Given the description of an element on the screen output the (x, y) to click on. 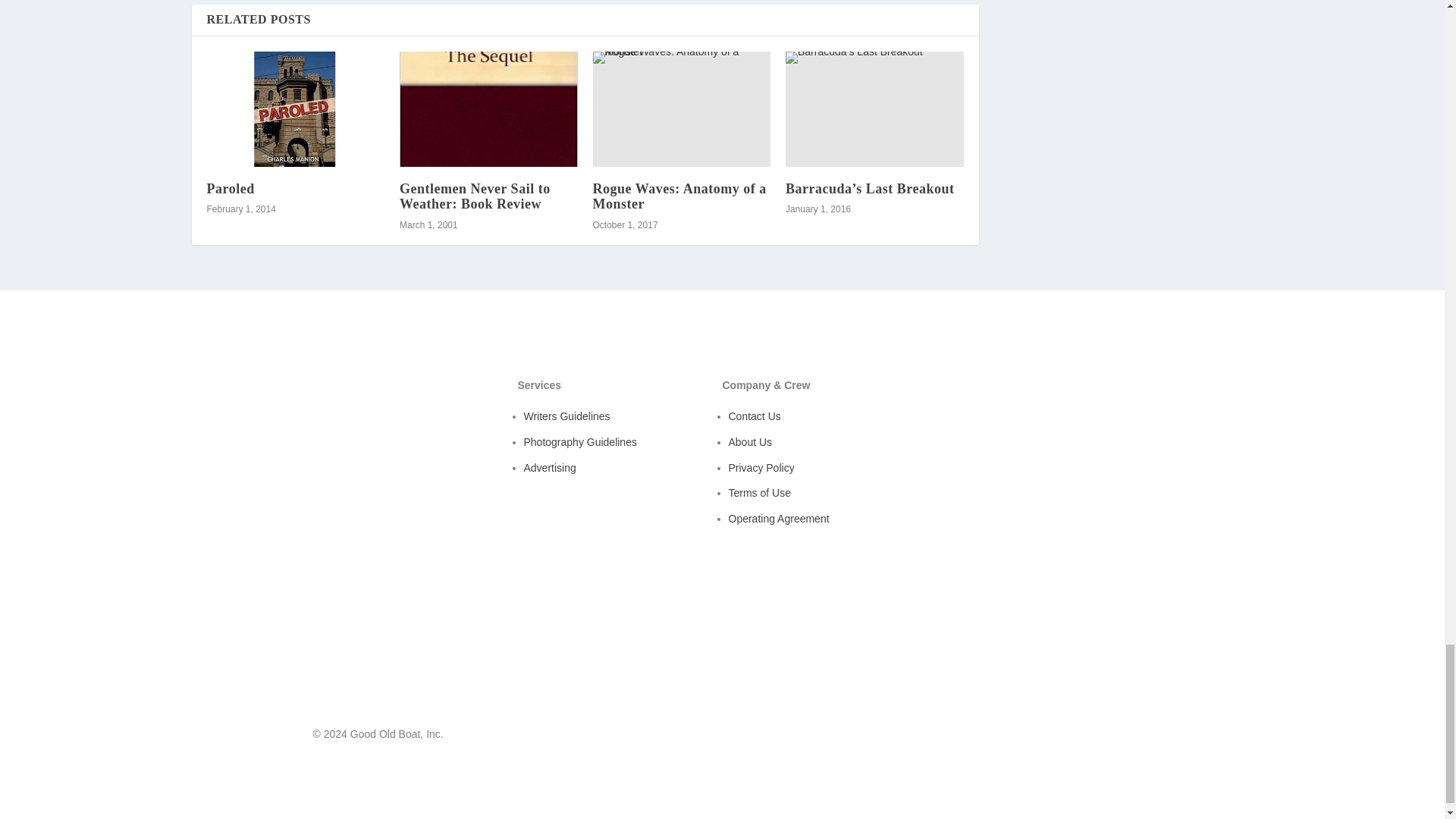
Gentlemen Never Sail to Weather: Book Review (488, 109)
Gentlemen Never Sail to Weather: Book Review (474, 195)
Follow on Facebook (1088, 737)
Follow on Youtube (1118, 737)
Rogue Waves: Anatomy of a Monster (681, 109)
Rogue Waves: Anatomy of a Monster (679, 195)
Paroled (295, 109)
Paroled (229, 188)
